Given the description of an element on the screen output the (x, y) to click on. 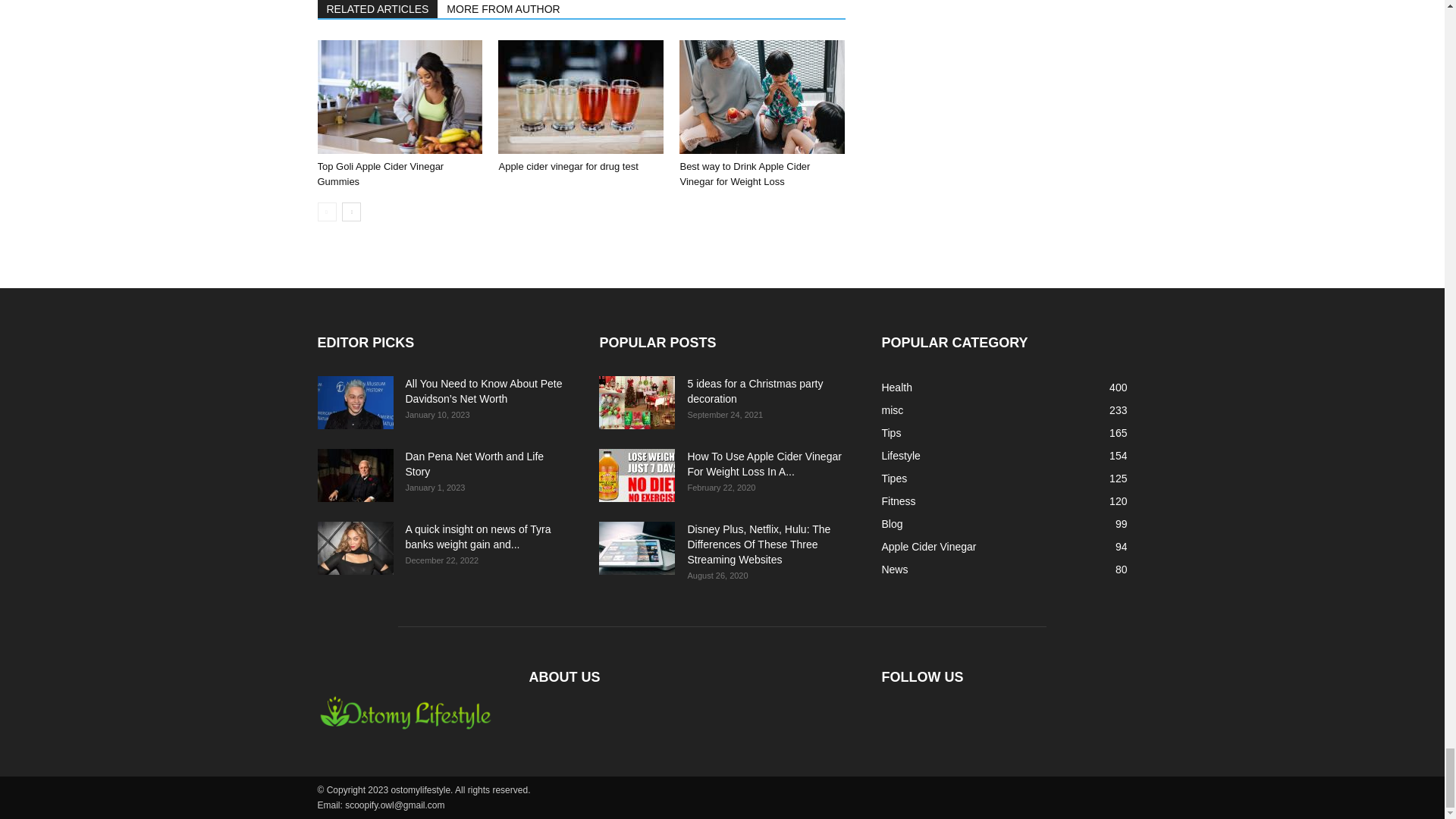
Top Goli Apple Cider Vinegar Gummies (399, 96)
Best way to Drink Apple Cider Vinegar for Weight Loss (761, 96)
Apple cider vinegar for drug test (567, 165)
Top Goli Apple Cider Vinegar Gummies (380, 173)
Best way to Drink Apple Cider Vinegar for Weight Loss (744, 173)
Apple cider vinegar for drug test (580, 96)
